Given the description of an element on the screen output the (x, y) to click on. 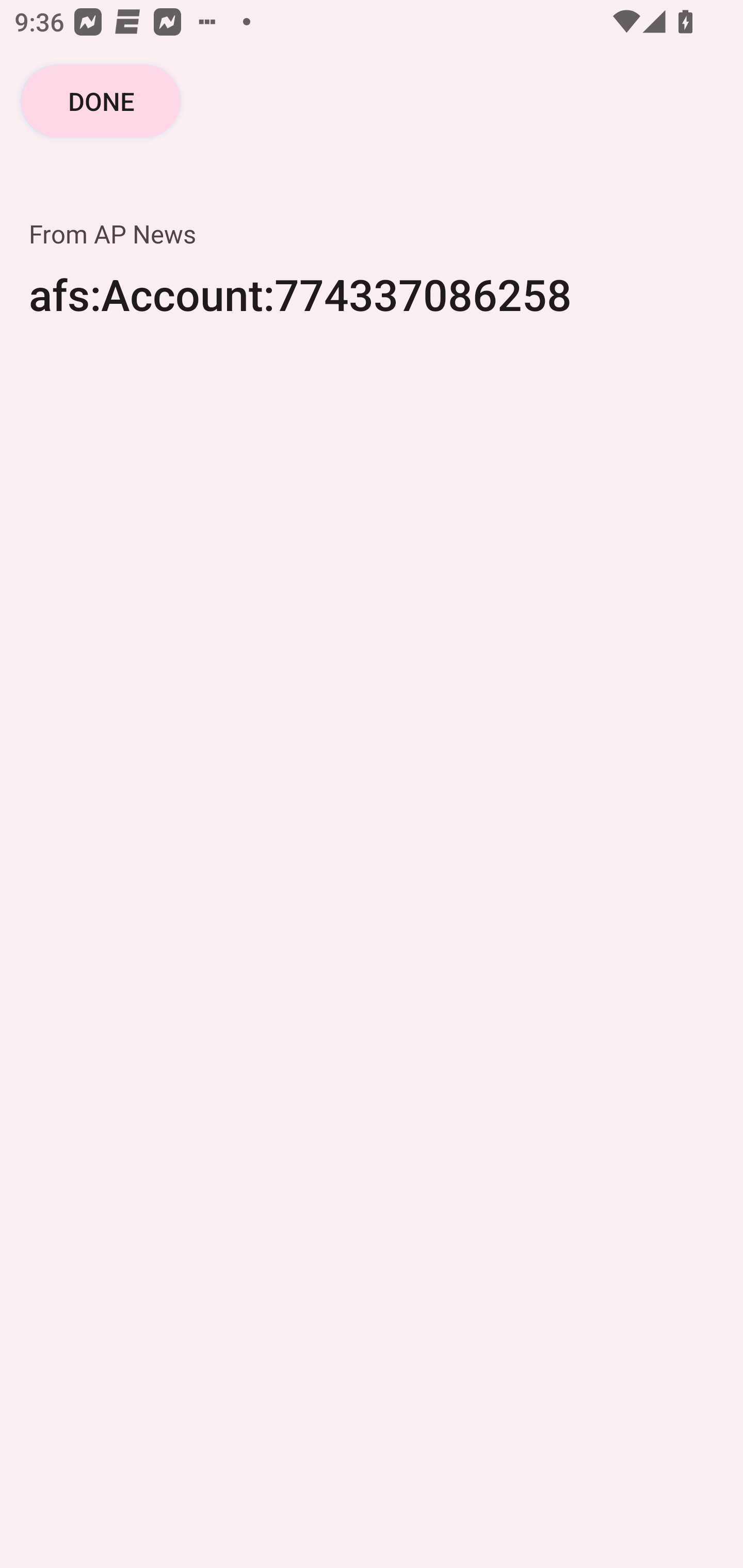
DONE (100, 101)
afs:Account:774337086258 (371, 307)
